Given the description of an element on the screen output the (x, y) to click on. 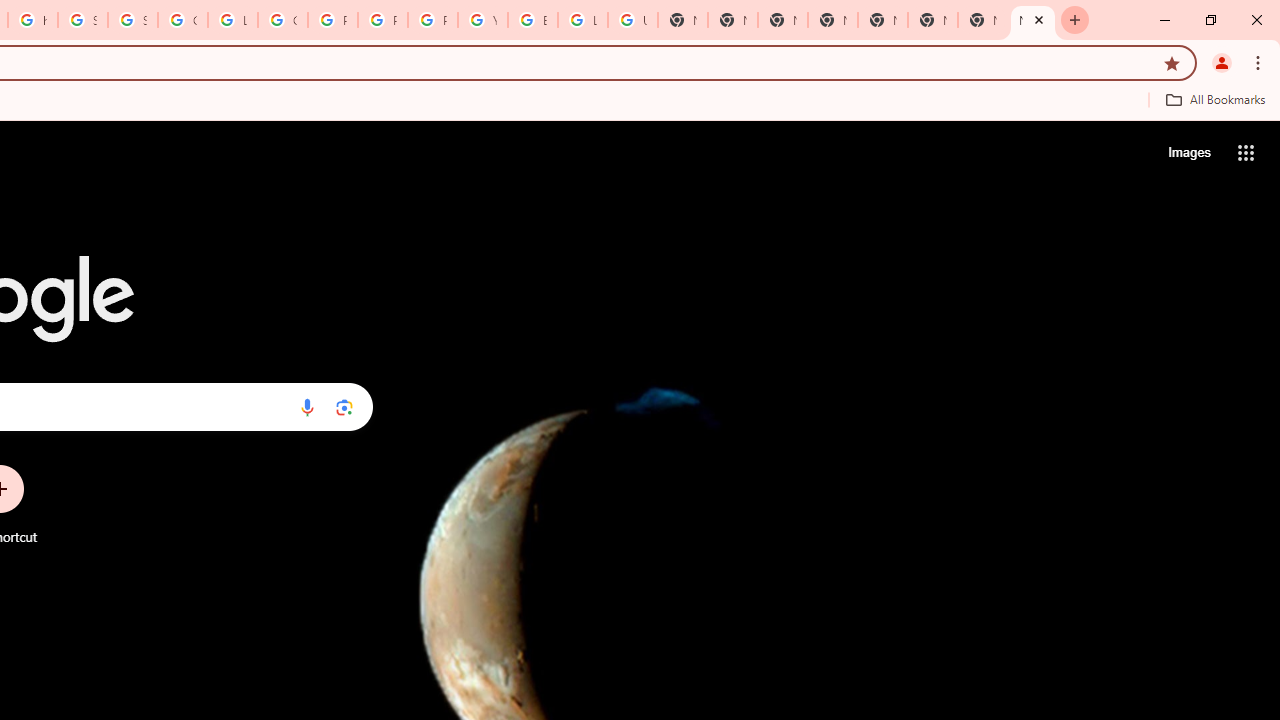
Privacy Help Center - Policies Help (333, 20)
New Tab (882, 20)
Browse Chrome as a guest - Computer - Google Chrome Help (533, 20)
Search for Images  (1188, 152)
YouTube (483, 20)
New Tab (782, 20)
Sign in - Google Accounts (82, 20)
